Given the description of an element on the screen output the (x, y) to click on. 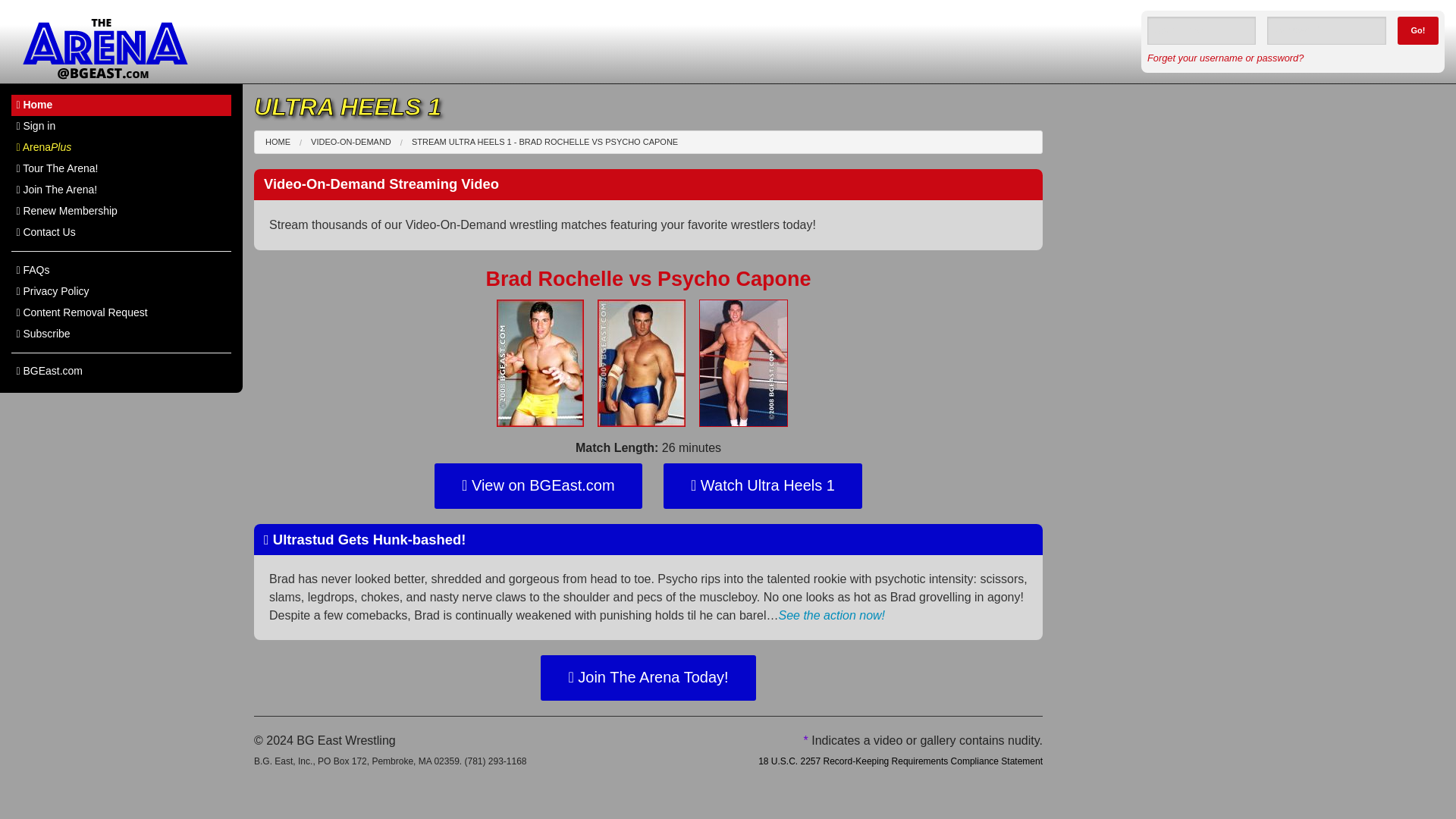
Content Removal Request (121, 312)
Sign in (121, 126)
Home (121, 105)
Renew Membership (121, 210)
FAQs (121, 270)
Home (276, 141)
Privacy Policy (121, 291)
VIDEO-ON-DEMAND (351, 141)
Subscribe (121, 332)
